Given the description of an element on the screen output the (x, y) to click on. 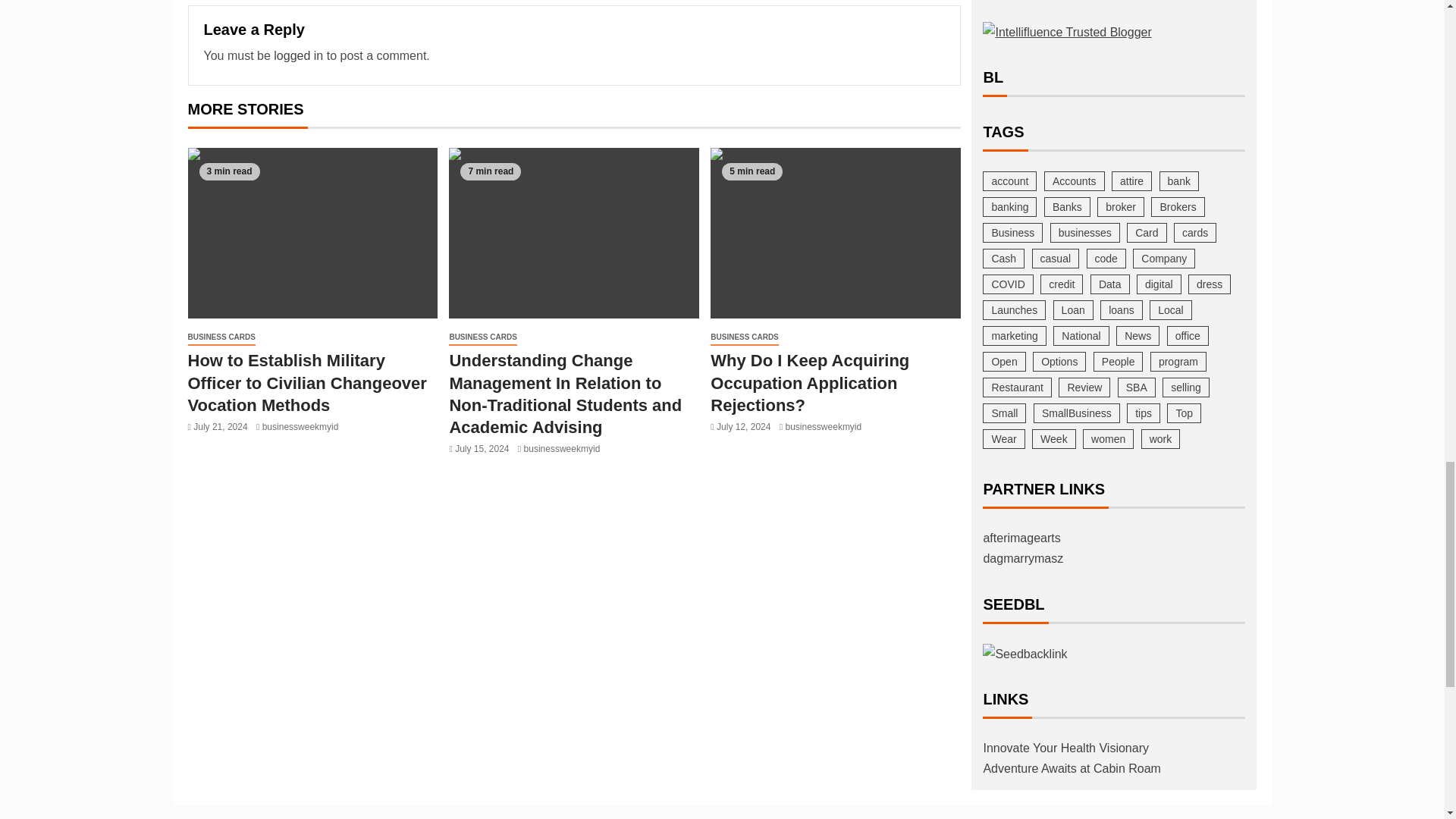
BUSINESS CARDS (482, 337)
logged in (298, 55)
BUSINESS CARDS (221, 337)
businessweekmyid (561, 448)
Why Do I Keep Acquiring Occupation Application Rejections? (835, 233)
businessweekmyid (300, 426)
